Given the description of an element on the screen output the (x, y) to click on. 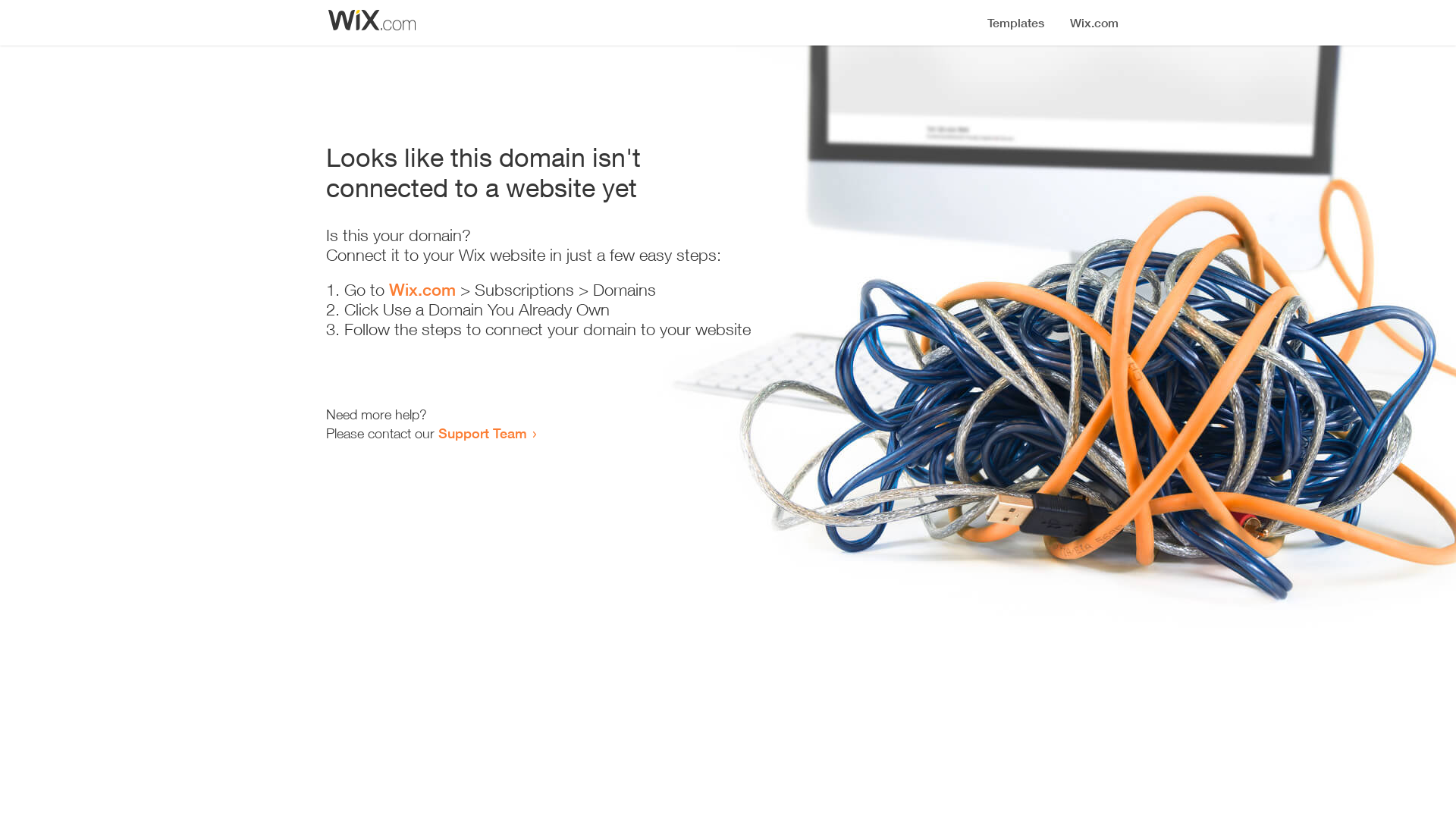
Wix.com Element type: text (422, 289)
Support Team Element type: text (482, 432)
